Given the description of an element on the screen output the (x, y) to click on. 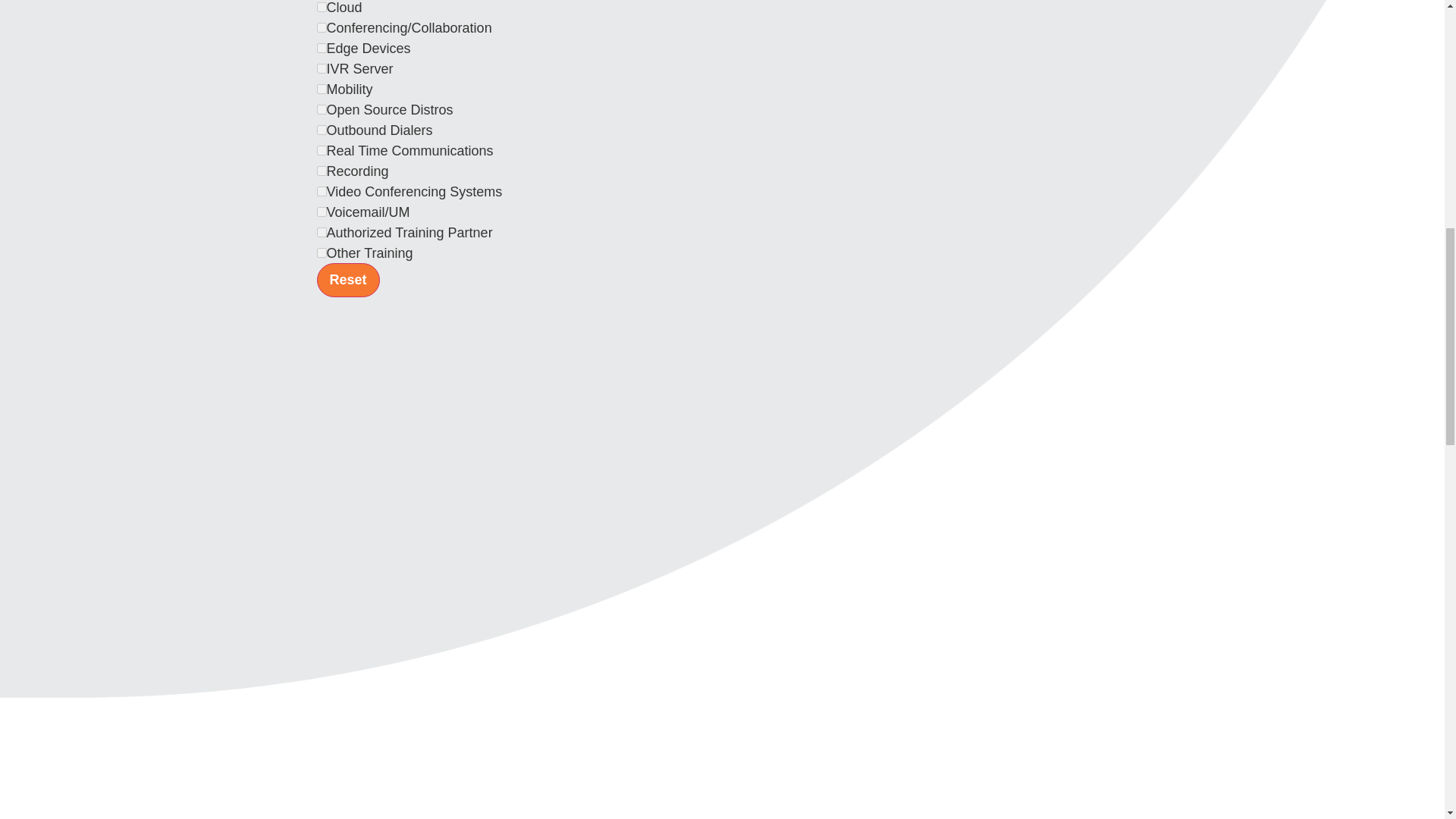
outbound-dialers (321, 130)
mobility (321, 89)
real-time-communications (321, 150)
conferencing-collaboration (321, 27)
edge-devices (321, 48)
recording (321, 171)
open-source-distros (321, 109)
ivr-server (321, 68)
cloud (321, 7)
